Given the description of an element on the screen output the (x, y) to click on. 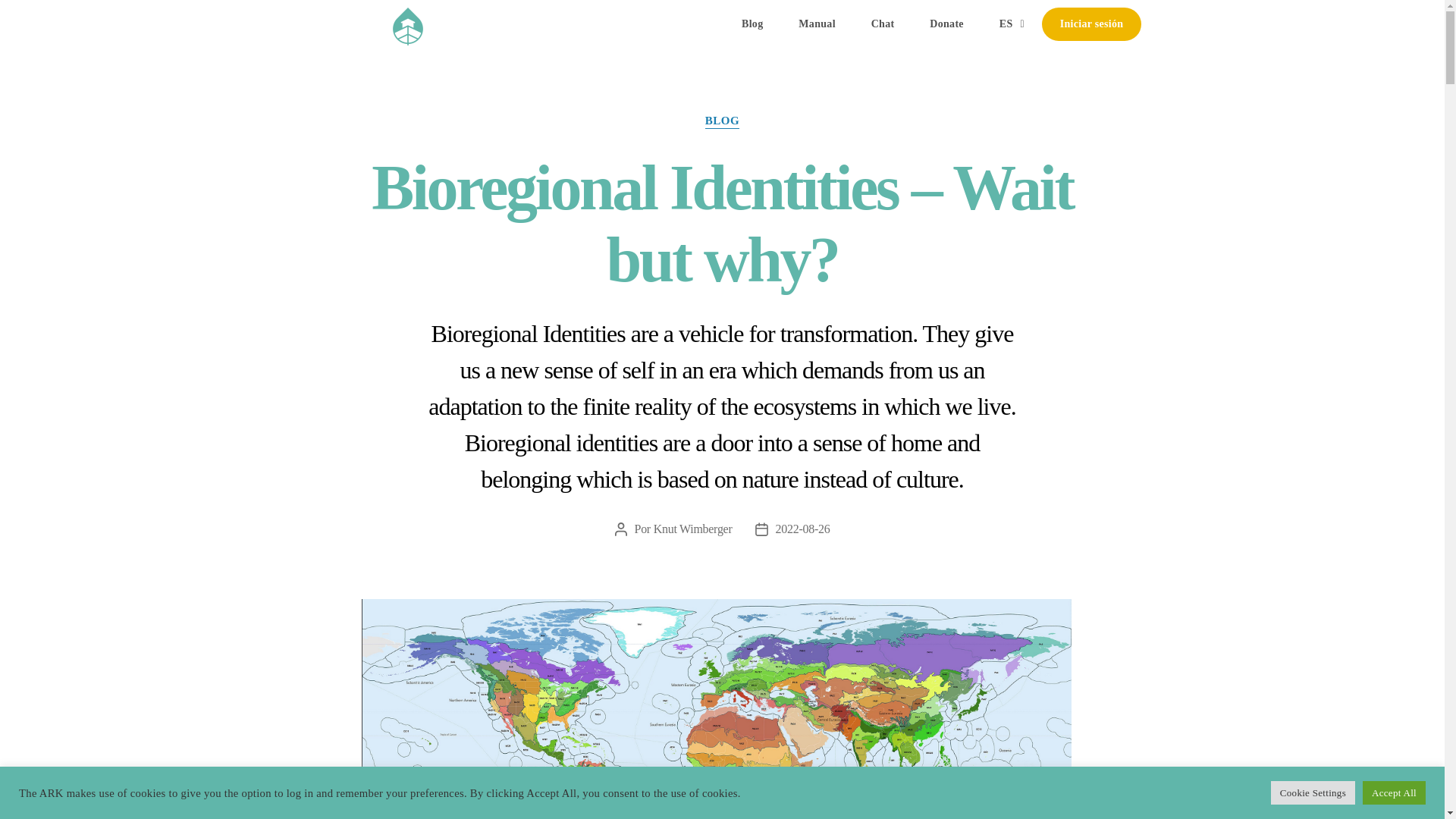
Knut Wimberger (692, 528)
Chat (882, 23)
2022-08-26 (802, 528)
ES (1011, 23)
Blog (751, 23)
BLOG (721, 120)
Donate (946, 23)
Manual (816, 23)
